Given the description of an element on the screen output the (x, y) to click on. 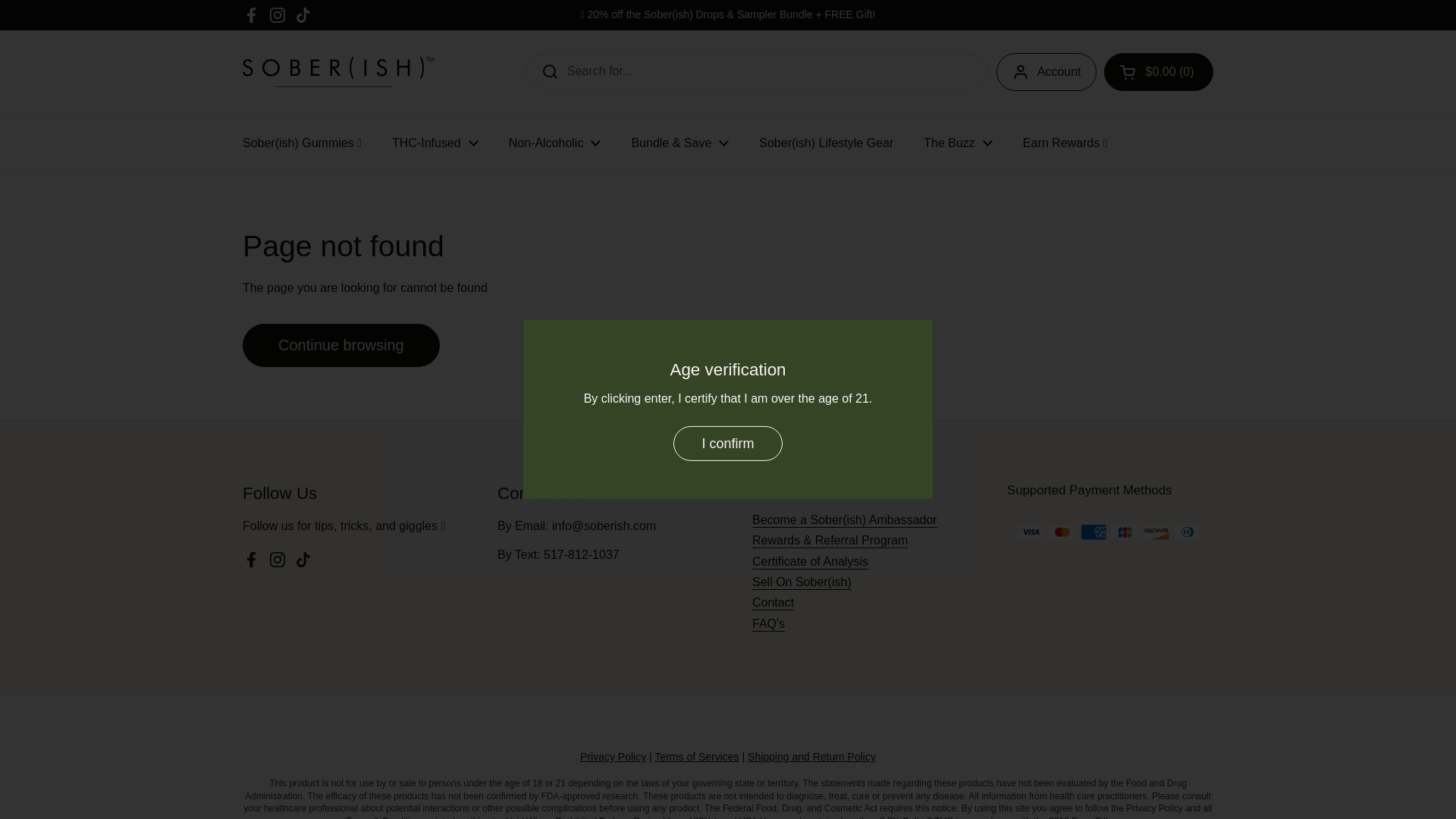
Open cart (1157, 71)
Instagram (276, 14)
THC-Infused (435, 143)
Account (1046, 71)
Non-Alcoholic (554, 143)
TikTok (303, 14)
The Buzz (957, 143)
Non-Alcoholic  (554, 143)
THC-Infused (435, 143)
